Given the description of an element on the screen output the (x, y) to click on. 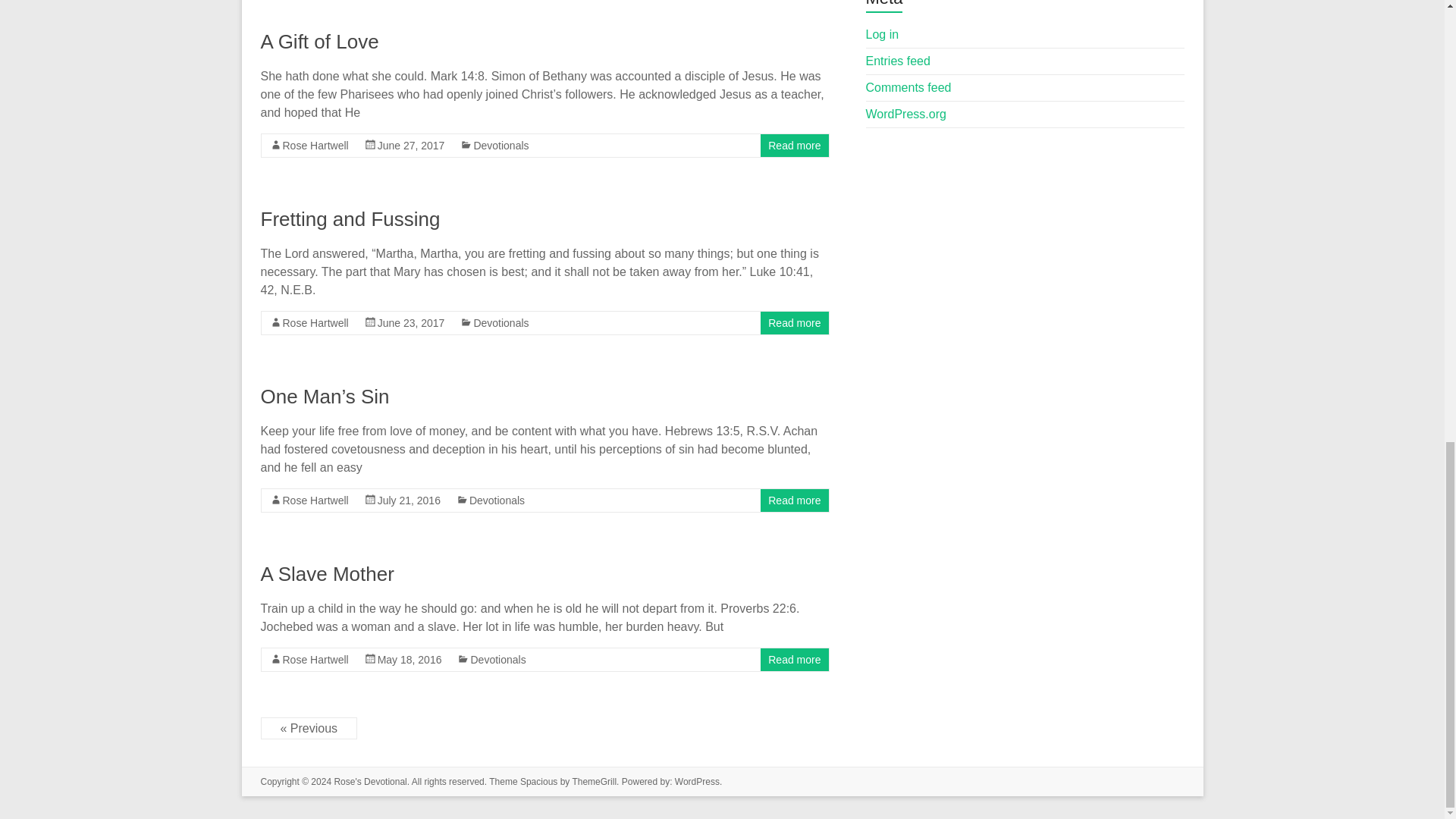
Read more (794, 145)
Devotionals (500, 145)
Devotionals (500, 322)
Rose Hartwell (314, 659)
Rose Hartwell (314, 145)
Read more (794, 500)
July 21, 2016 (409, 500)
Rose Hartwell (314, 322)
June 27, 2017 (411, 145)
Devotionals (496, 500)
